Given the description of an element on the screen output the (x, y) to click on. 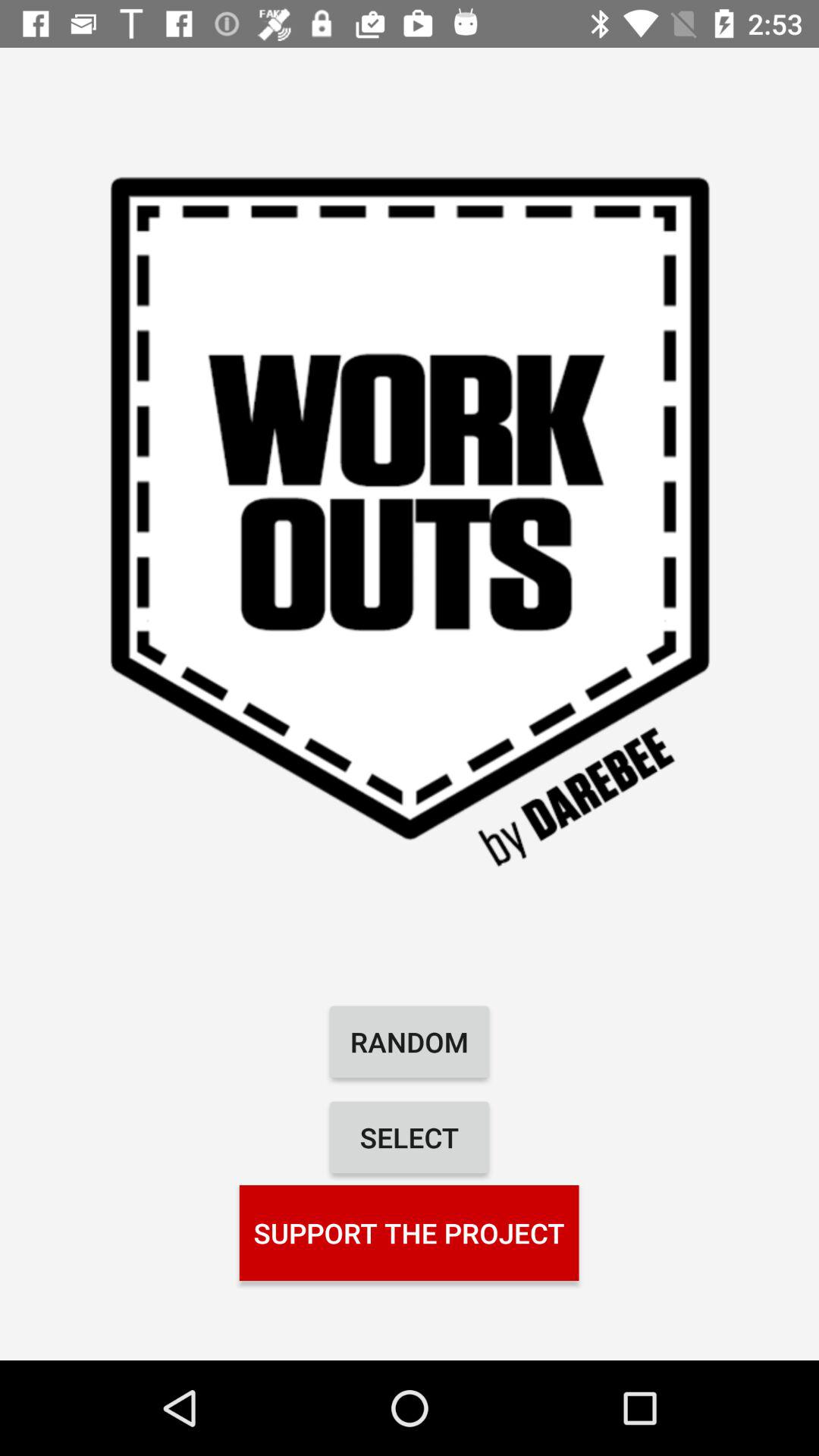
flip to random icon (409, 1041)
